Given the description of an element on the screen output the (x, y) to click on. 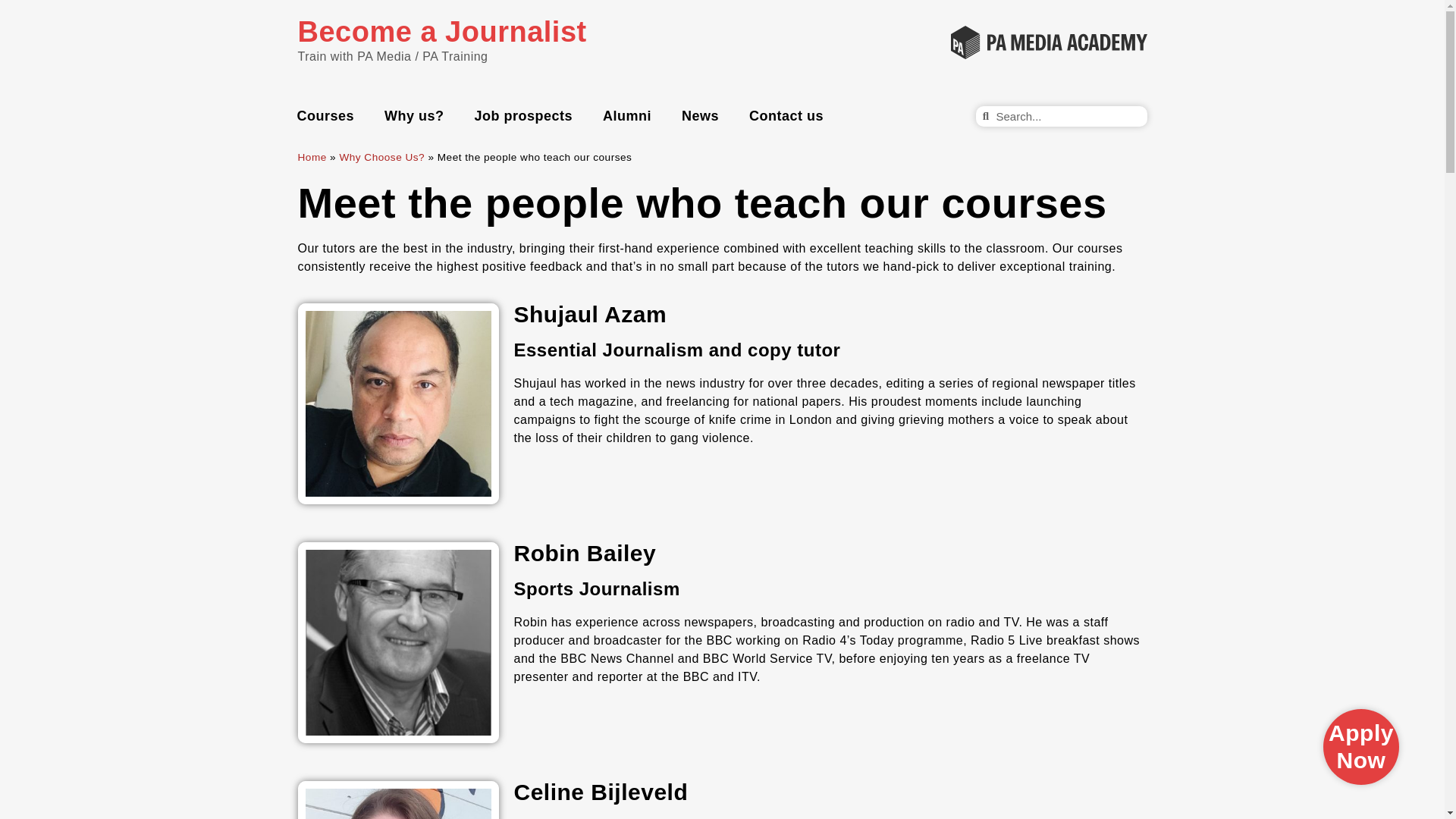
Contact us (785, 115)
Job prospects (524, 115)
Become a Journalist (441, 37)
News (699, 115)
Courses (325, 115)
Home (311, 156)
Alumni (627, 115)
Why us? (414, 115)
Why Choose Us? (382, 156)
